Given the description of an element on the screen output the (x, y) to click on. 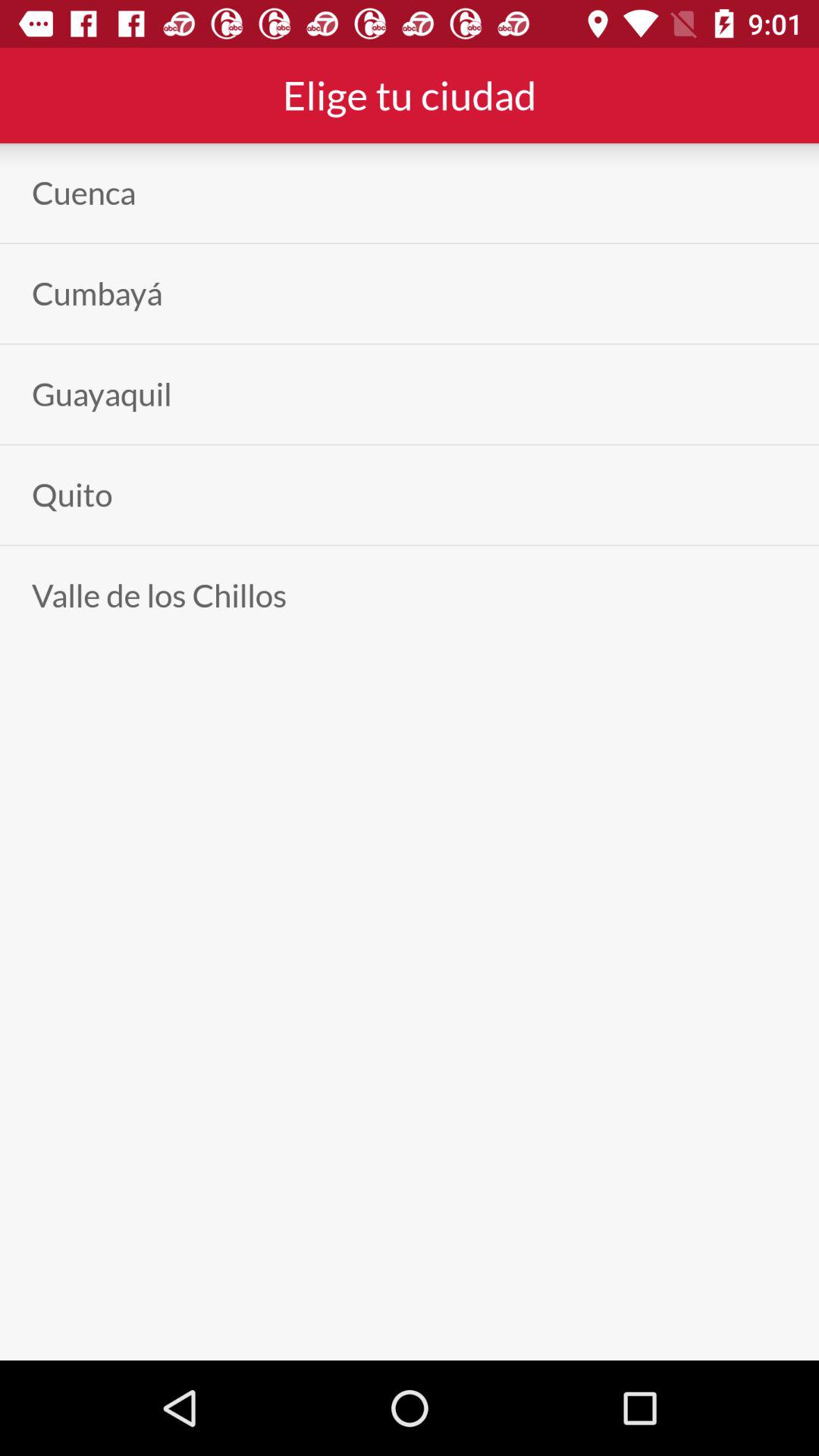
click the app above the quito app (101, 394)
